Given the description of an element on the screen output the (x, y) to click on. 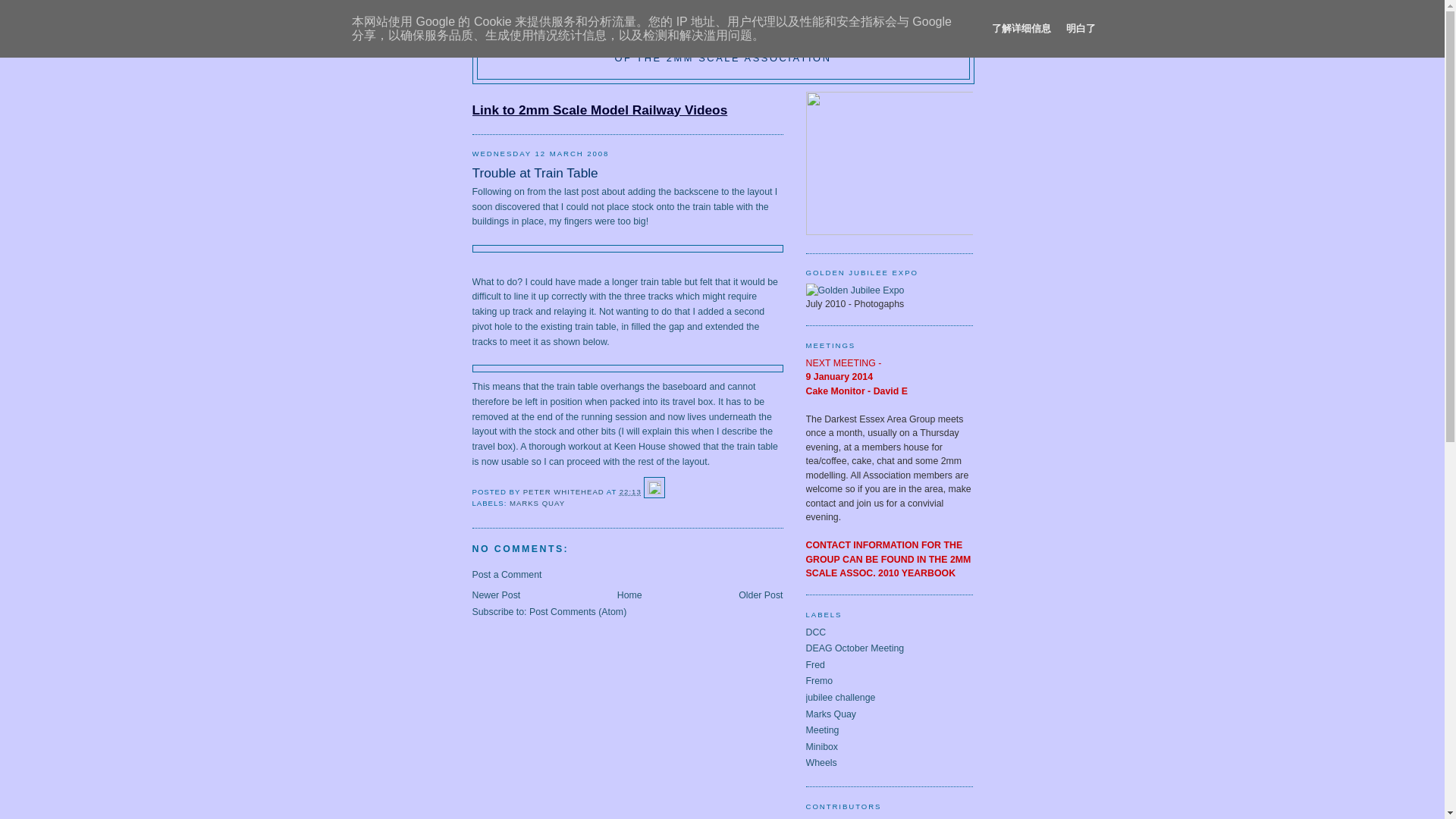
Newer Post (495, 594)
author profile (564, 491)
DEAG October Meeting (854, 647)
2MM DARKEST ESSEX AREA GROUP (722, 36)
Older Post (760, 594)
Minibox (821, 747)
Edit Post (654, 491)
Wheels (820, 762)
Newer Post (495, 594)
Fred (814, 665)
Meeting (821, 729)
Older Post (760, 594)
Marks Quay (830, 714)
Link to 2mm Scale Model Railway Videos (598, 111)
permanent link (631, 491)
